Given the description of an element on the screen output the (x, y) to click on. 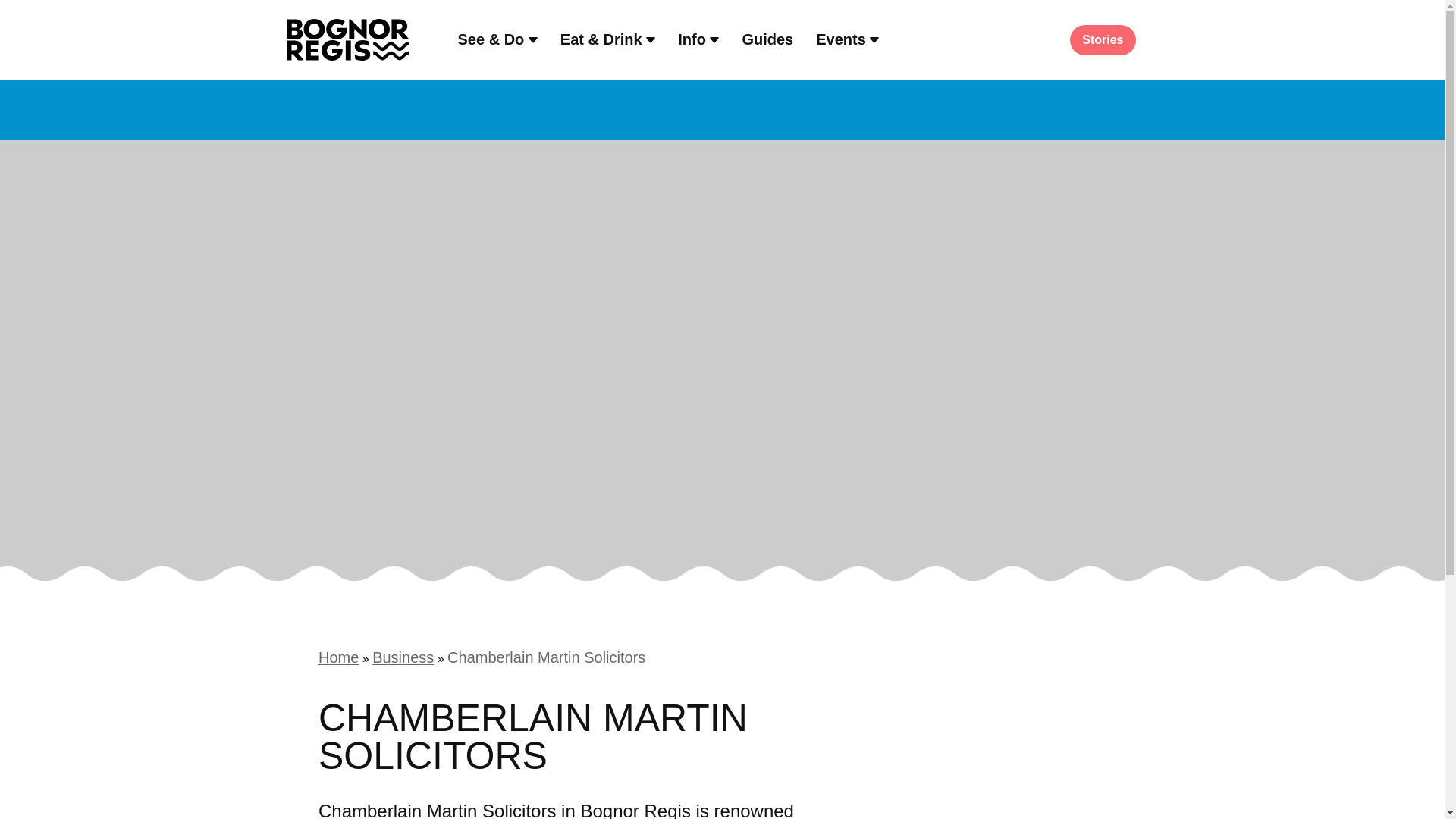
Events (847, 38)
Info (698, 38)
Guides (767, 38)
Events (847, 38)
Info (698, 38)
Guides (767, 38)
Stories (1101, 39)
